Given the description of an element on the screen output the (x, y) to click on. 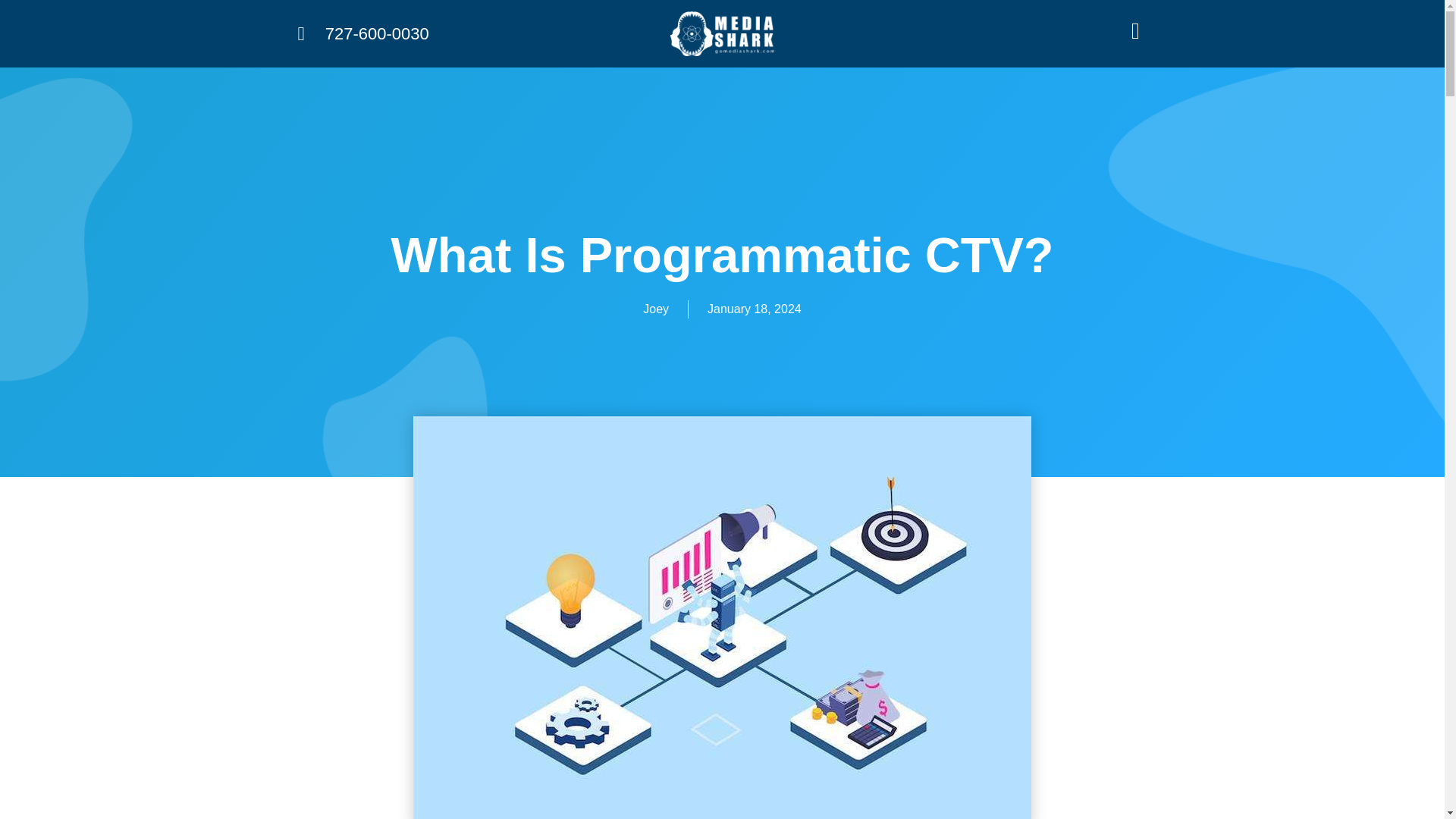
Joey (655, 309)
January 18, 2024 (754, 309)
